Given the description of an element on the screen output the (x, y) to click on. 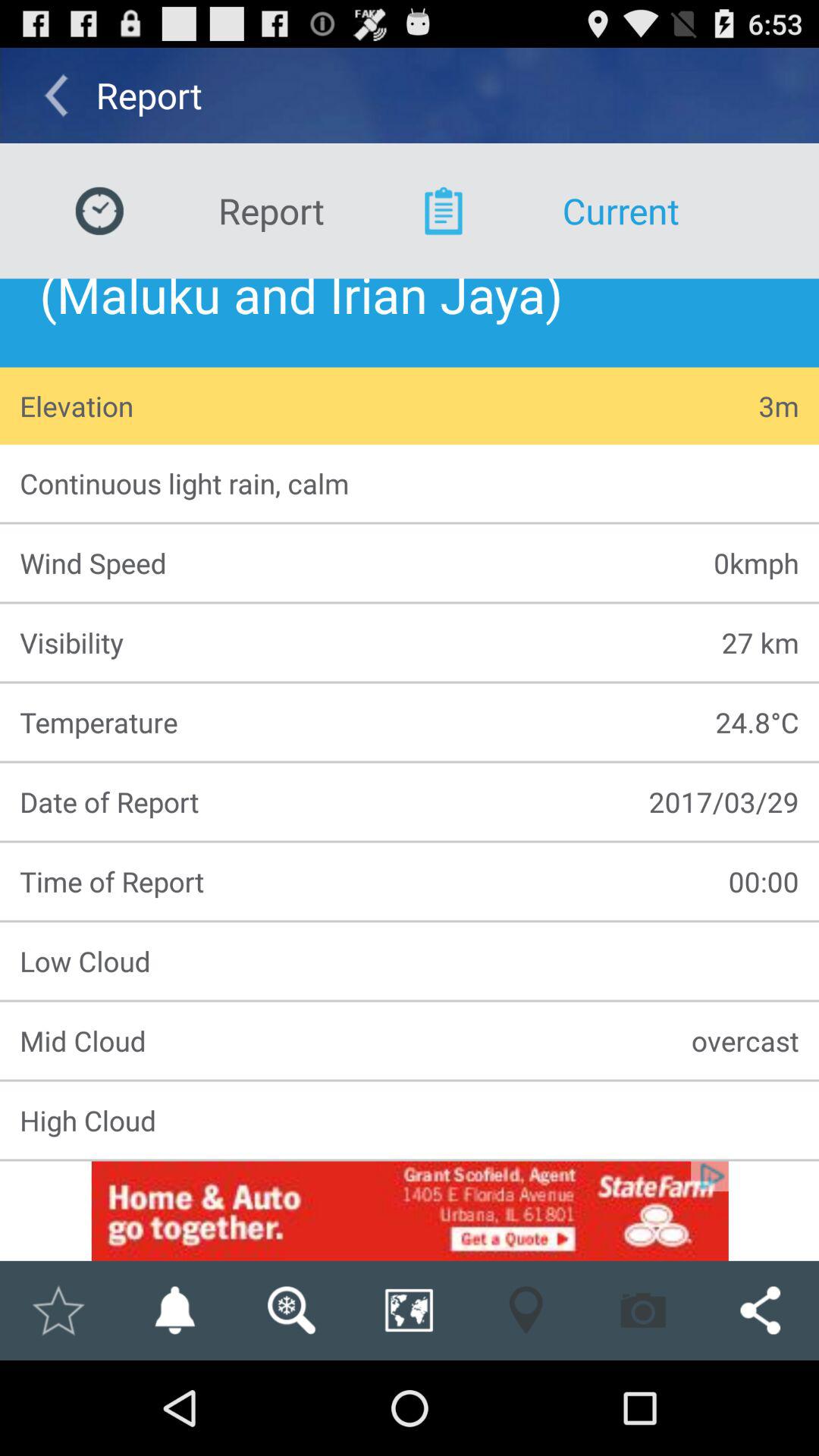
share (408, 1310)
